Given the description of an element on the screen output the (x, y) to click on. 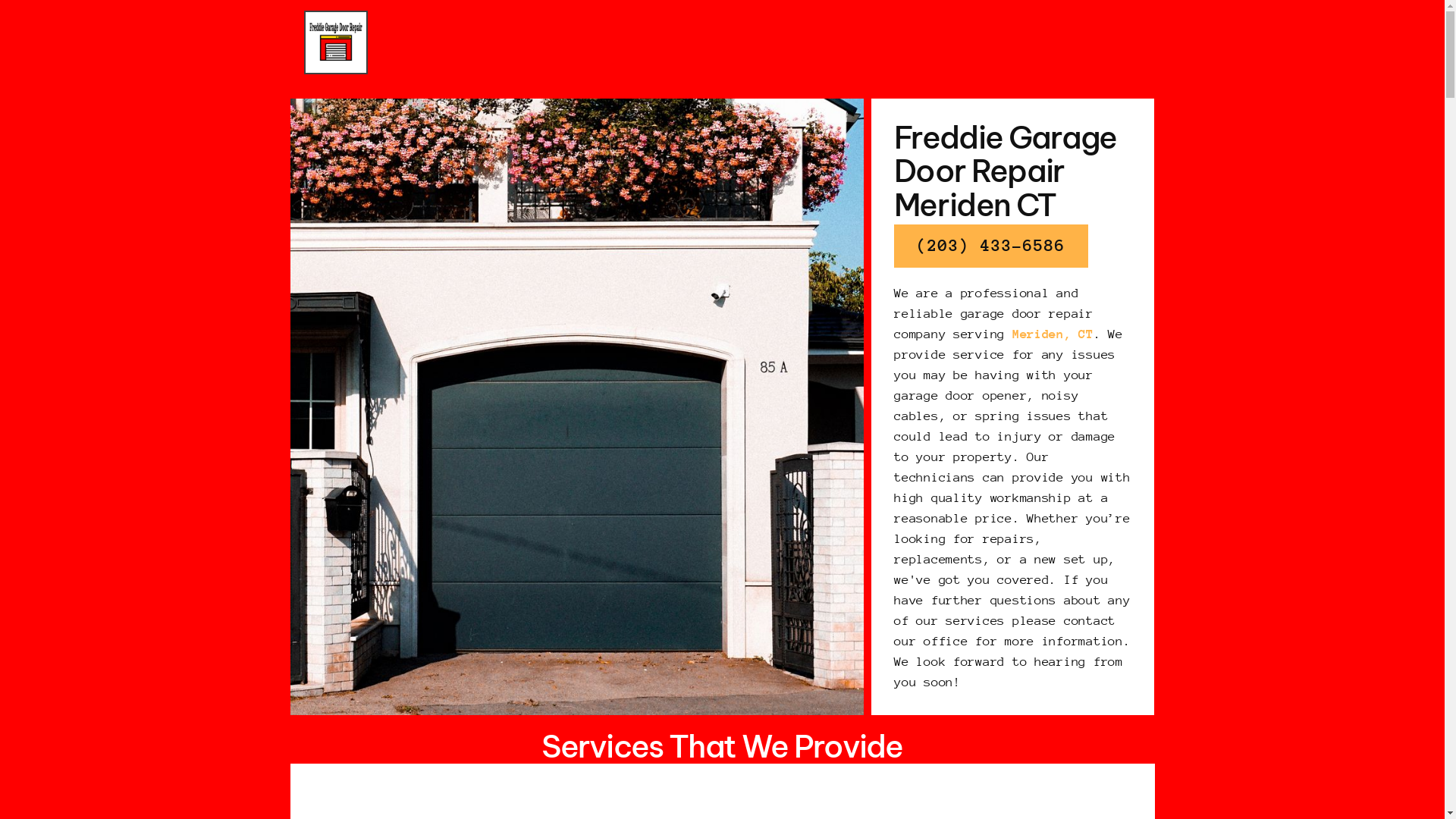
(203) 433-6586 Element type: text (991, 245)
Freddie Garage Door Repair Element type: hover (335, 42)
Meriden, CT Element type: text (1052, 333)
